Given the description of an element on the screen output the (x, y) to click on. 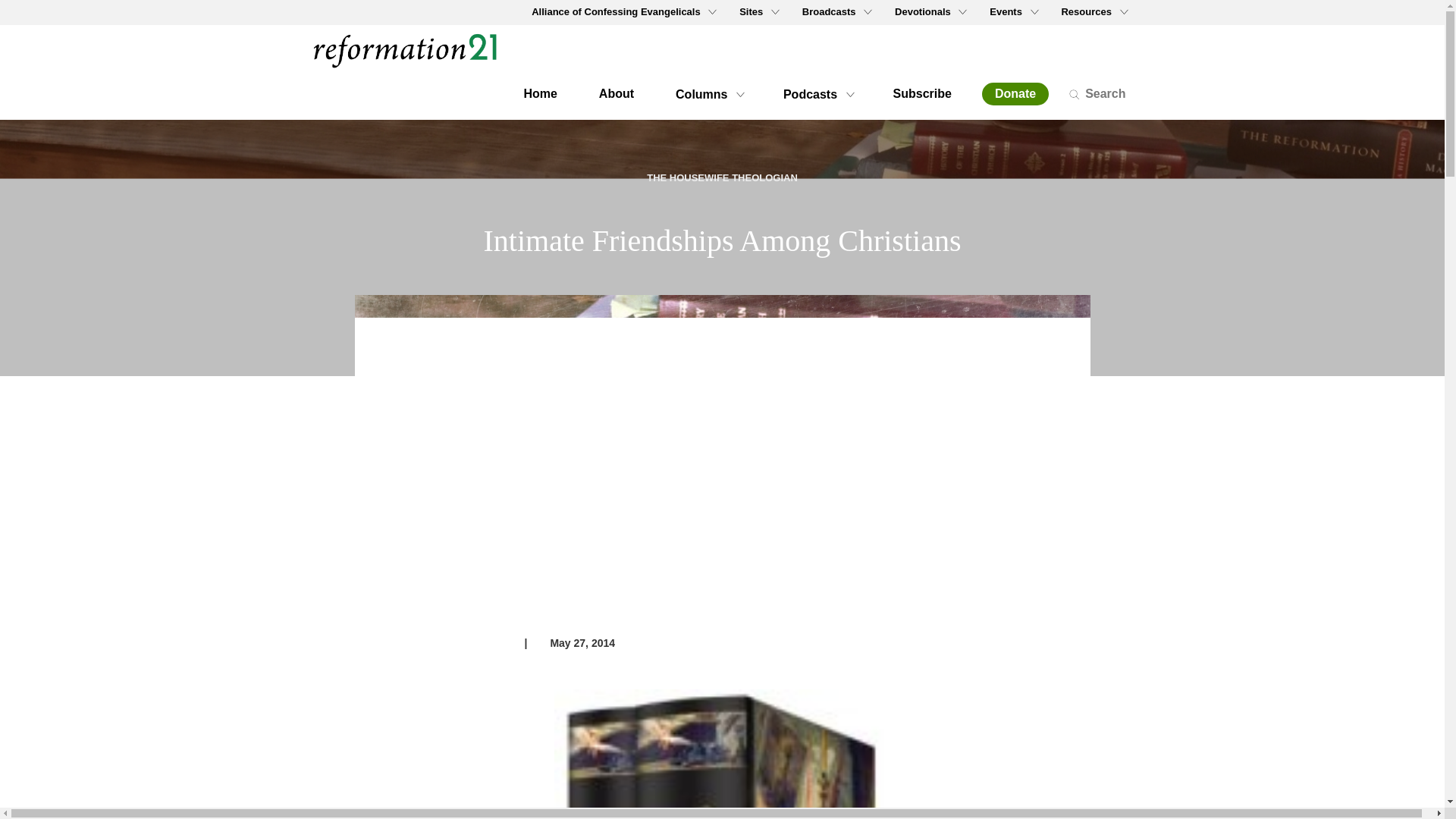
Sites (757, 12)
Broadcasts (835, 12)
Home (411, 47)
Events (1012, 12)
Devotionals (929, 12)
Alliance of Confessing Evangelicals (622, 12)
